Given the description of an element on the screen output the (x, y) to click on. 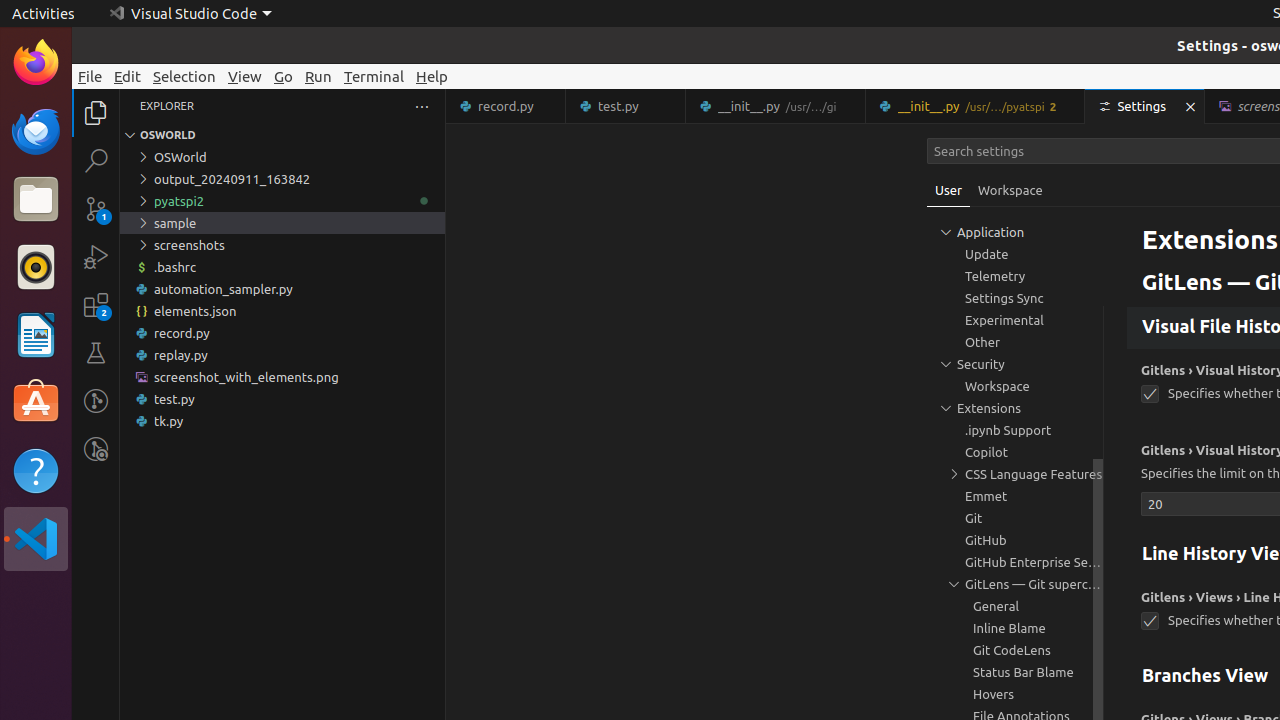
OSWorld Element type: tree-item (282, 157)
General, group Element type: tree-item (1015, 606)
Edit Element type: push-button (127, 76)
GitHub, group Element type: tree-item (1015, 540)
Hovers, group Element type: tree-item (1015, 694)
